Given the description of an element on the screen output the (x, y) to click on. 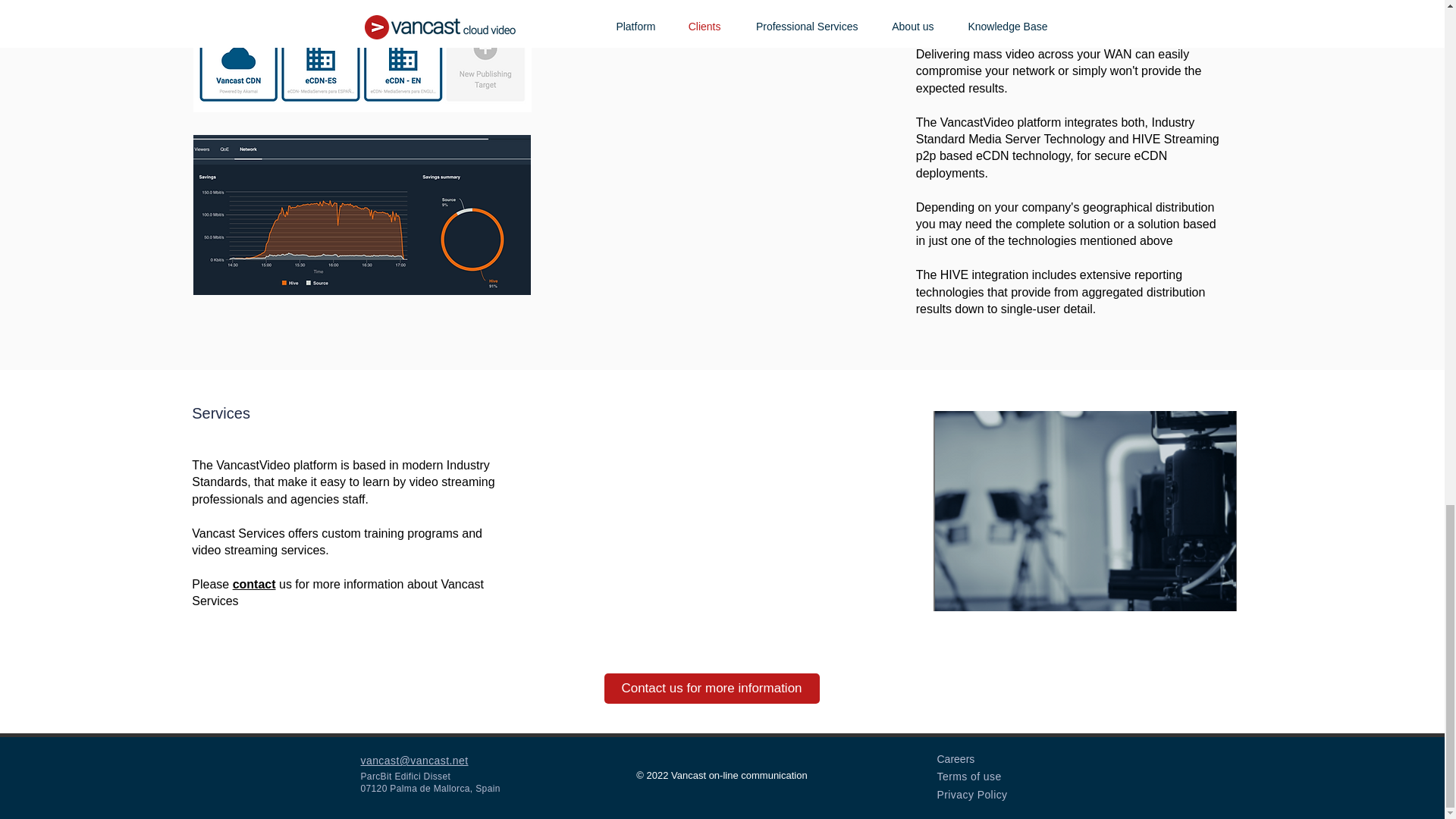
contact (254, 584)
Privacy Policy (972, 794)
Contact us for more information (711, 688)
Careers (956, 758)
Terms of use (969, 776)
